Given the description of an element on the screen output the (x, y) to click on. 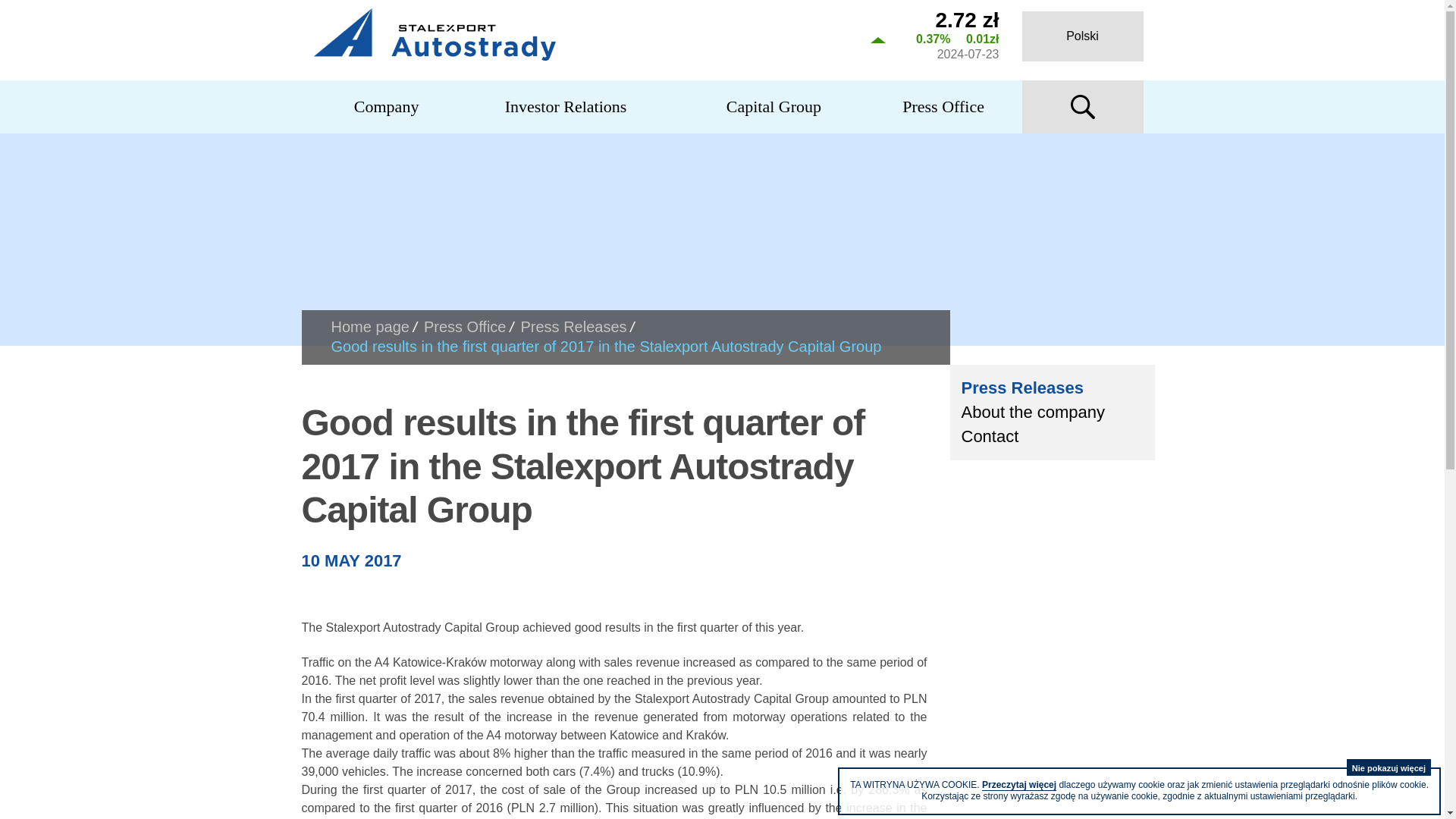
Press Releases (1051, 387)
go to main page (578, 33)
Polski (1082, 36)
Capital Group (773, 106)
Company (386, 106)
Contact (1051, 436)
About the company (1051, 412)
search (1082, 106)
Press Office (464, 326)
Press Office (943, 106)
Polska (1082, 36)
Home page (369, 326)
Investor Relations (565, 106)
Press Releases (572, 326)
